Given the description of an element on the screen output the (x, y) to click on. 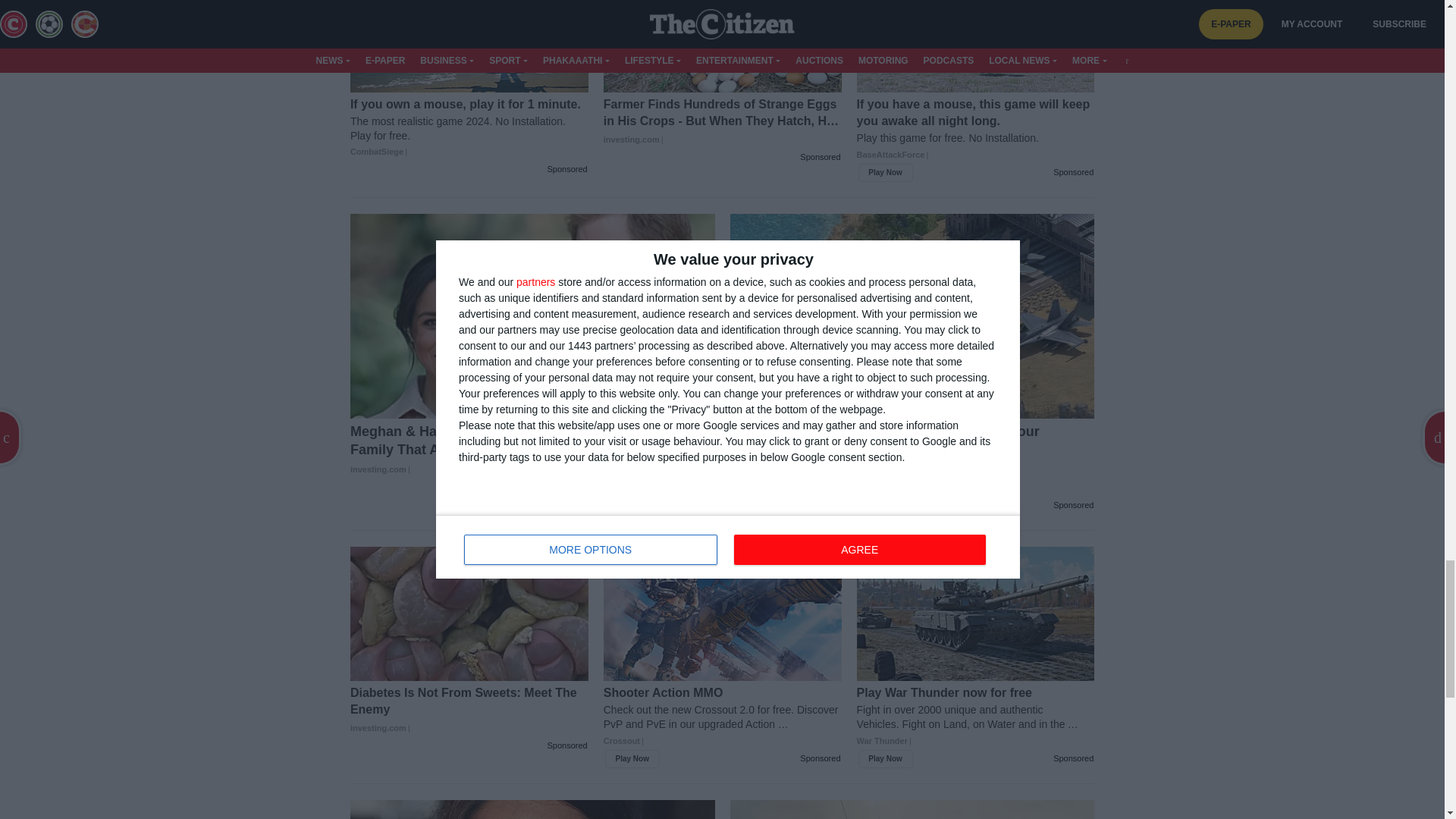
Shooter Action MMO (722, 723)
If you own a mouse, play it for 1 minute. (469, 127)
Diabetes Is Not From Sweets: Meet The Enemy (469, 710)
